Given the description of an element on the screen output the (x, y) to click on. 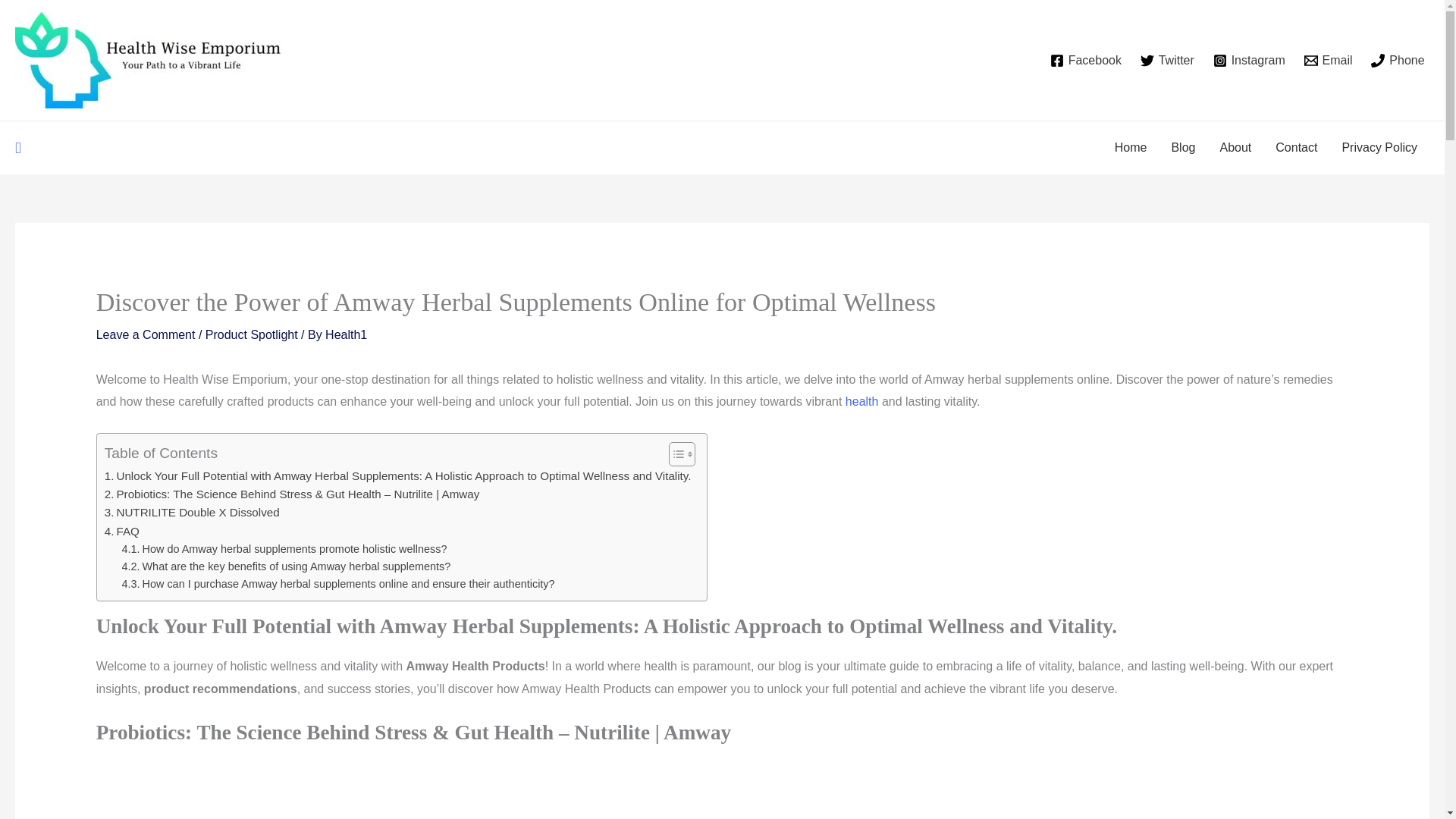
Twitter (1166, 60)
Phone (1398, 60)
Facebook (1085, 60)
Email (1327, 60)
Privacy Policy (1379, 147)
How do Amway herbal supplements promote holistic wellness? (284, 548)
Health1 (345, 334)
What are the key benefits of using Amway herbal supplements? (286, 566)
View all posts by Health1 (345, 334)
About (1235, 147)
FAQ (121, 531)
